Given the description of an element on the screen output the (x, y) to click on. 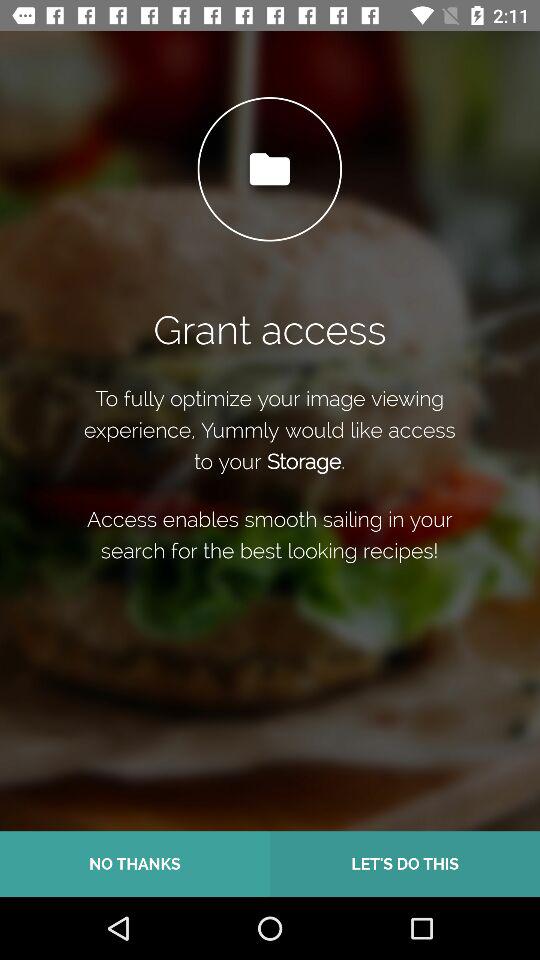
flip to the no thanks item (135, 863)
